Given the description of an element on the screen output the (x, y) to click on. 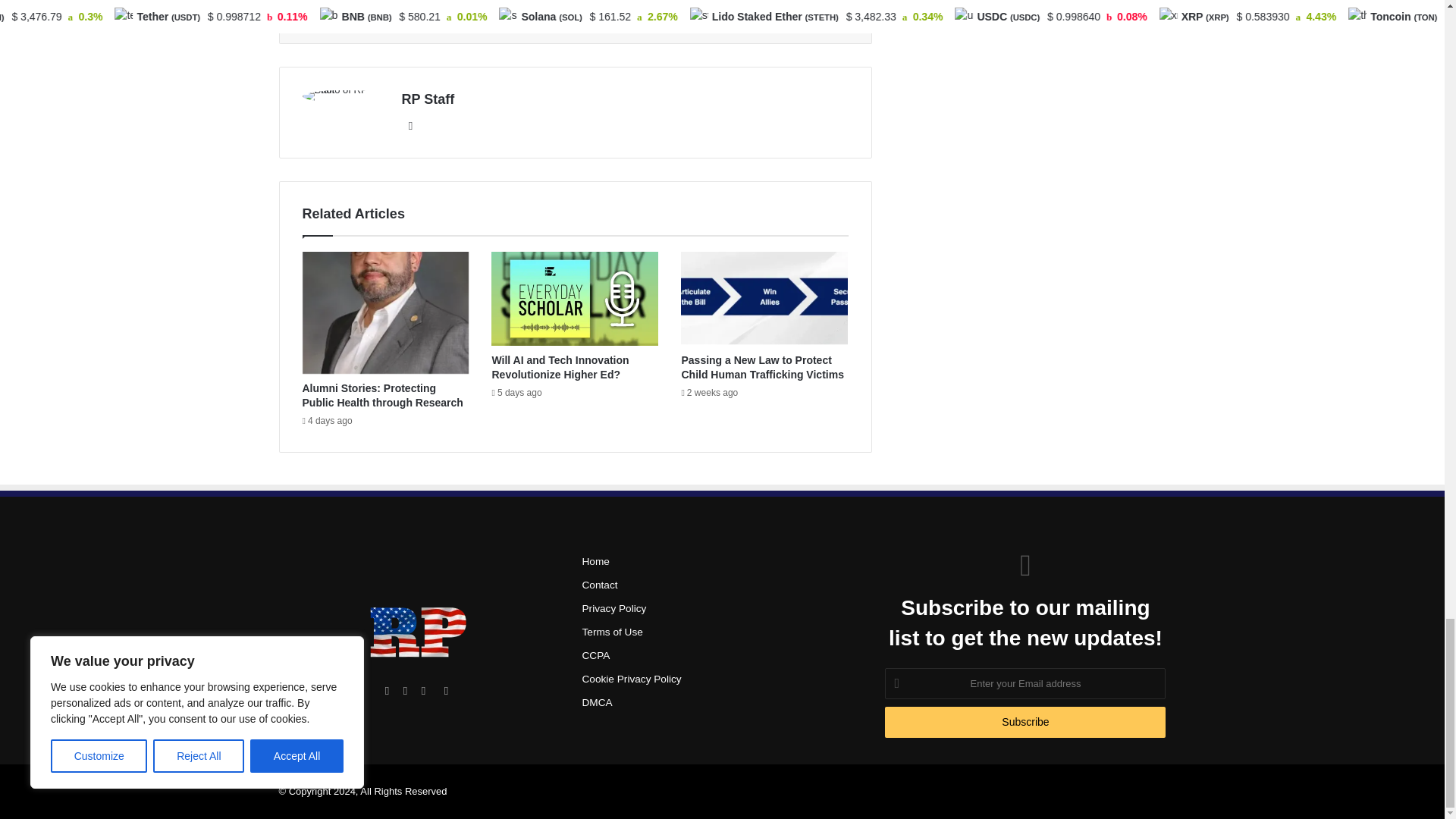
Subscribe (1025, 721)
